Given the description of an element on the screen output the (x, y) to click on. 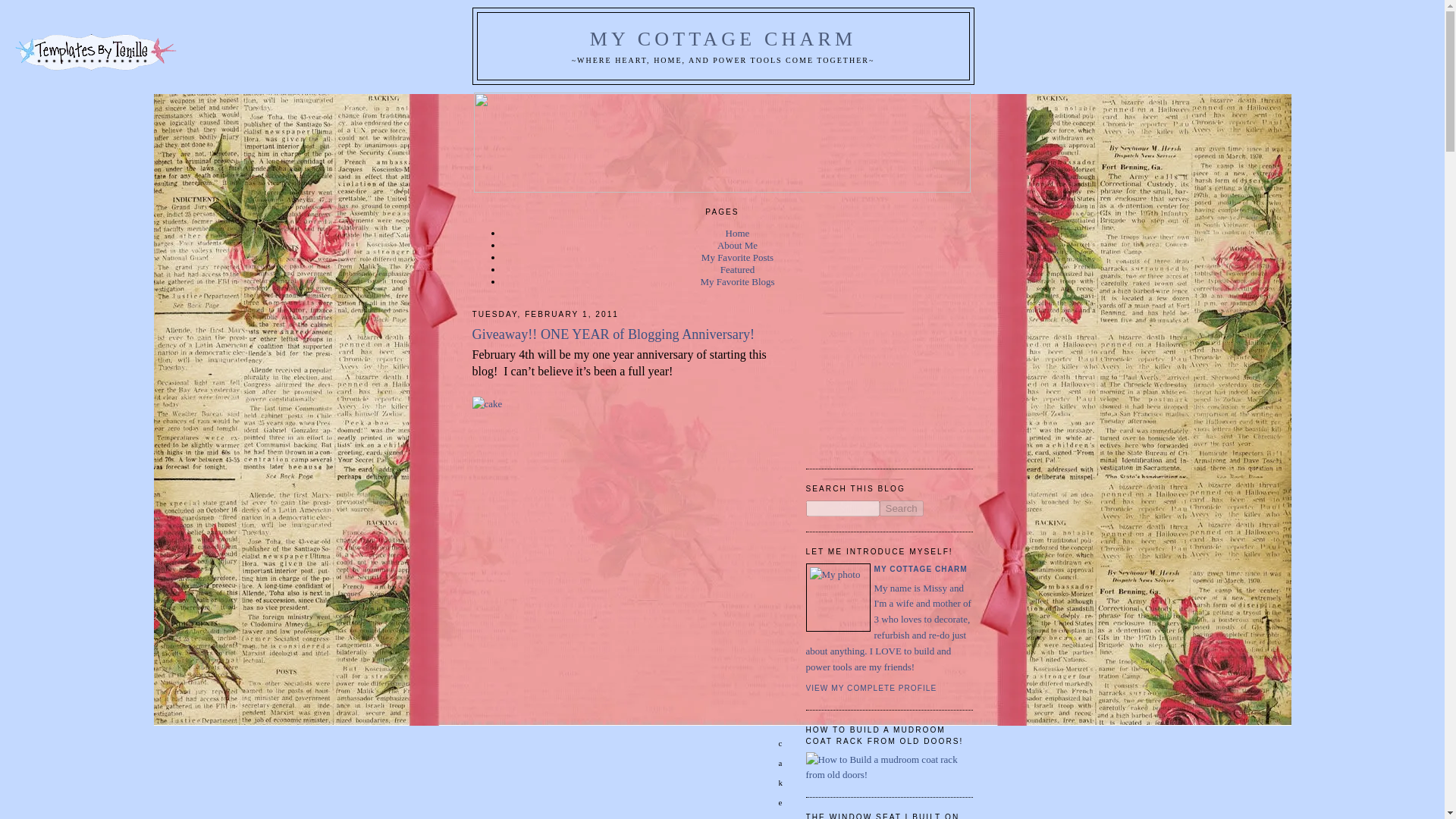
Featured (737, 269)
Search (901, 508)
Home (737, 233)
My Favorite Posts (737, 256)
Search (901, 508)
My Favorite Blogs (737, 281)
About Me (737, 244)
MY COTTAGE CHARM (723, 38)
